Given the description of an element on the screen output the (x, y) to click on. 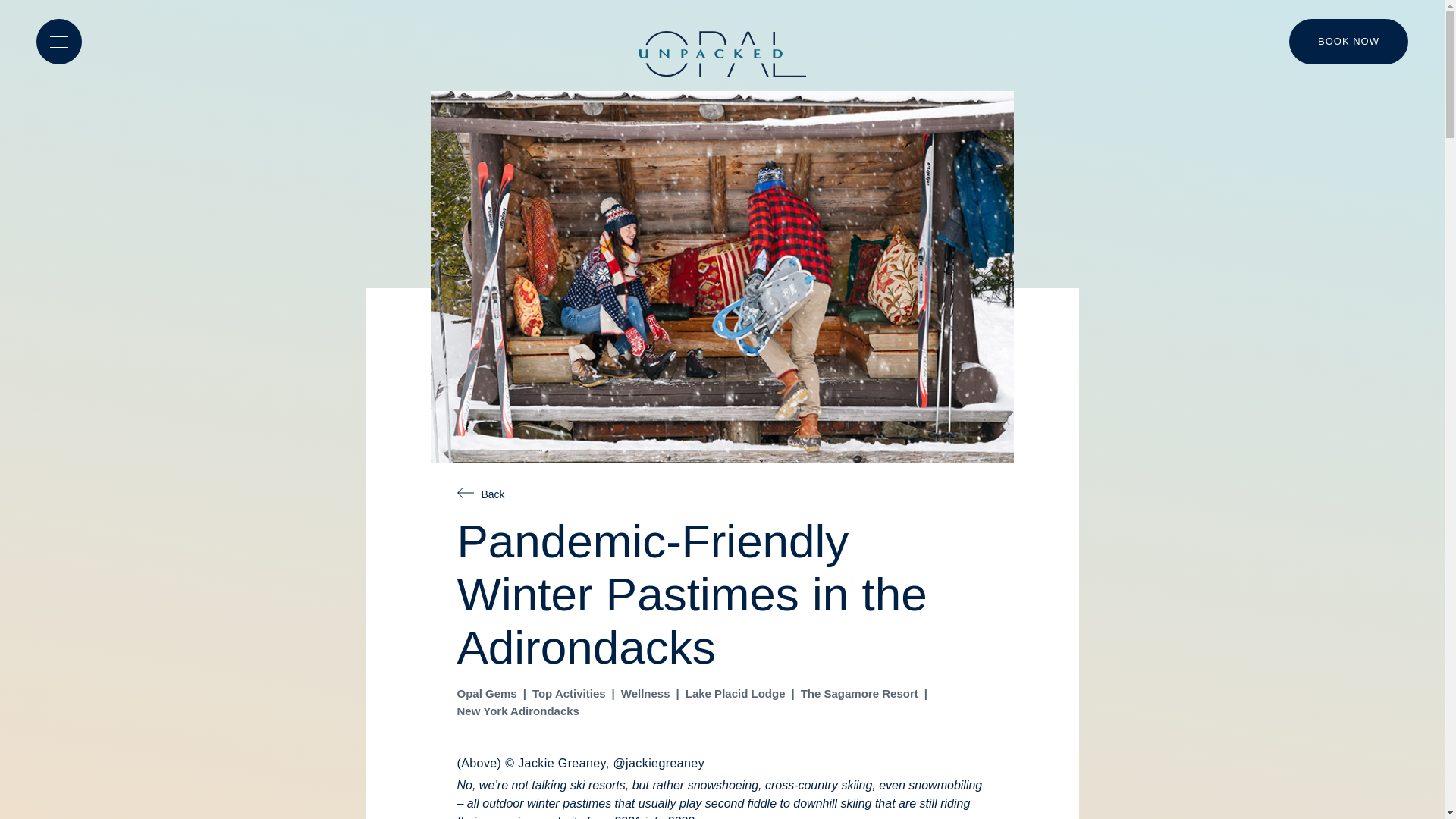
BOOK NOW (1347, 41)
